Given the description of an element on the screen output the (x, y) to click on. 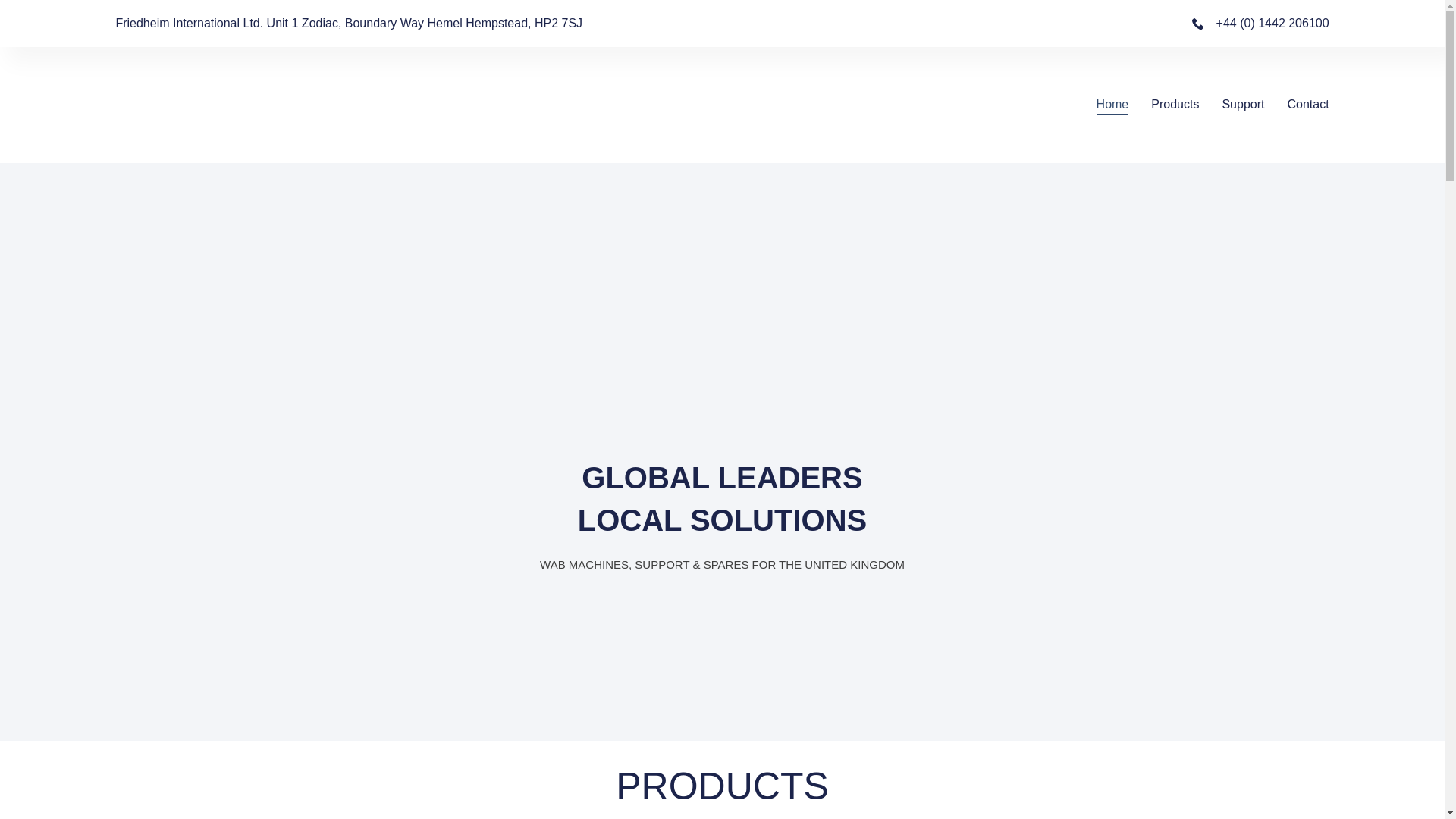
Products (1174, 104)
Support (1242, 104)
Contact (1307, 104)
Home (1112, 104)
